Given the description of an element on the screen output the (x, y) to click on. 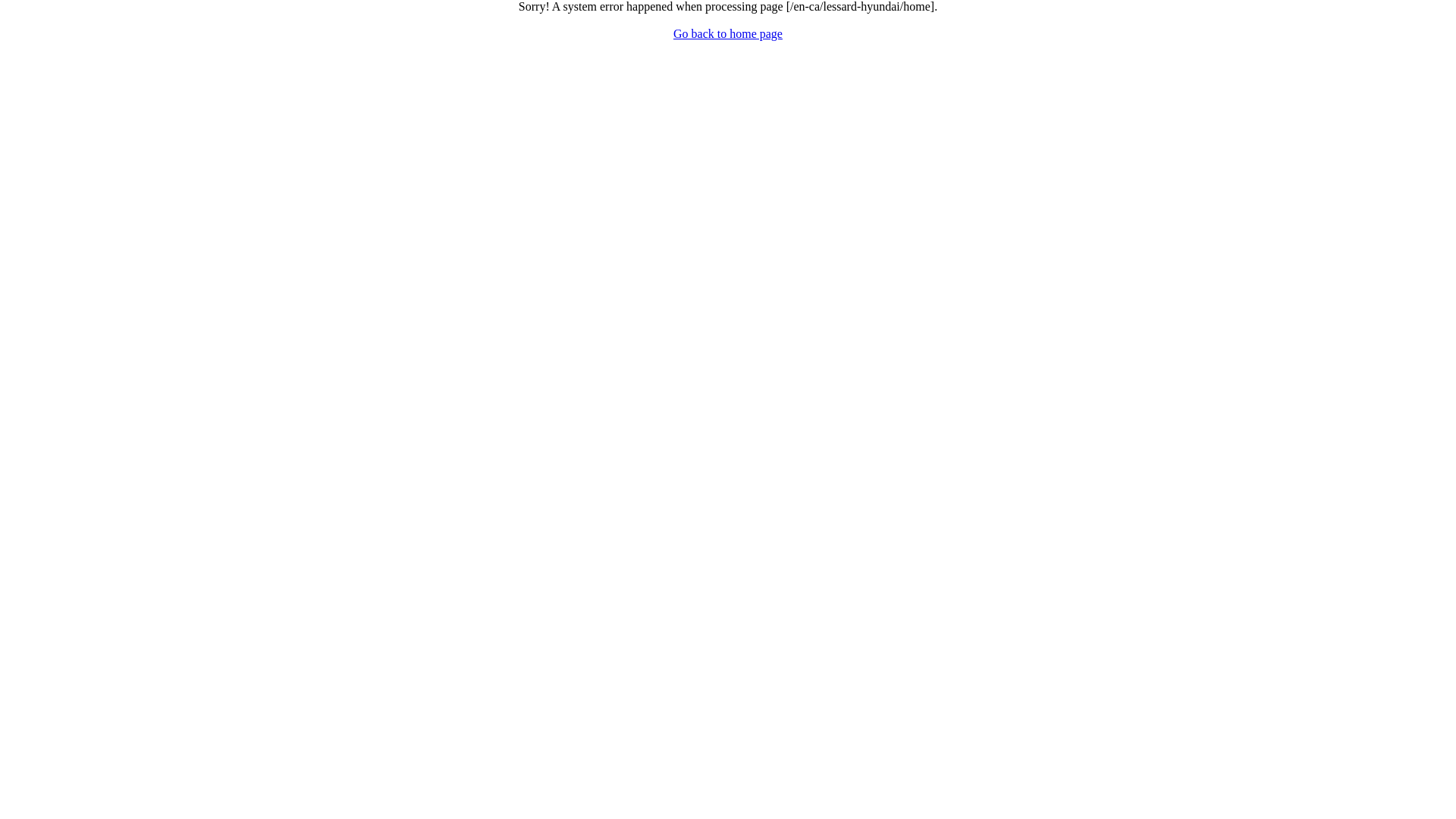
Go back to home page Element type: text (727, 33)
